Given the description of an element on the screen output the (x, y) to click on. 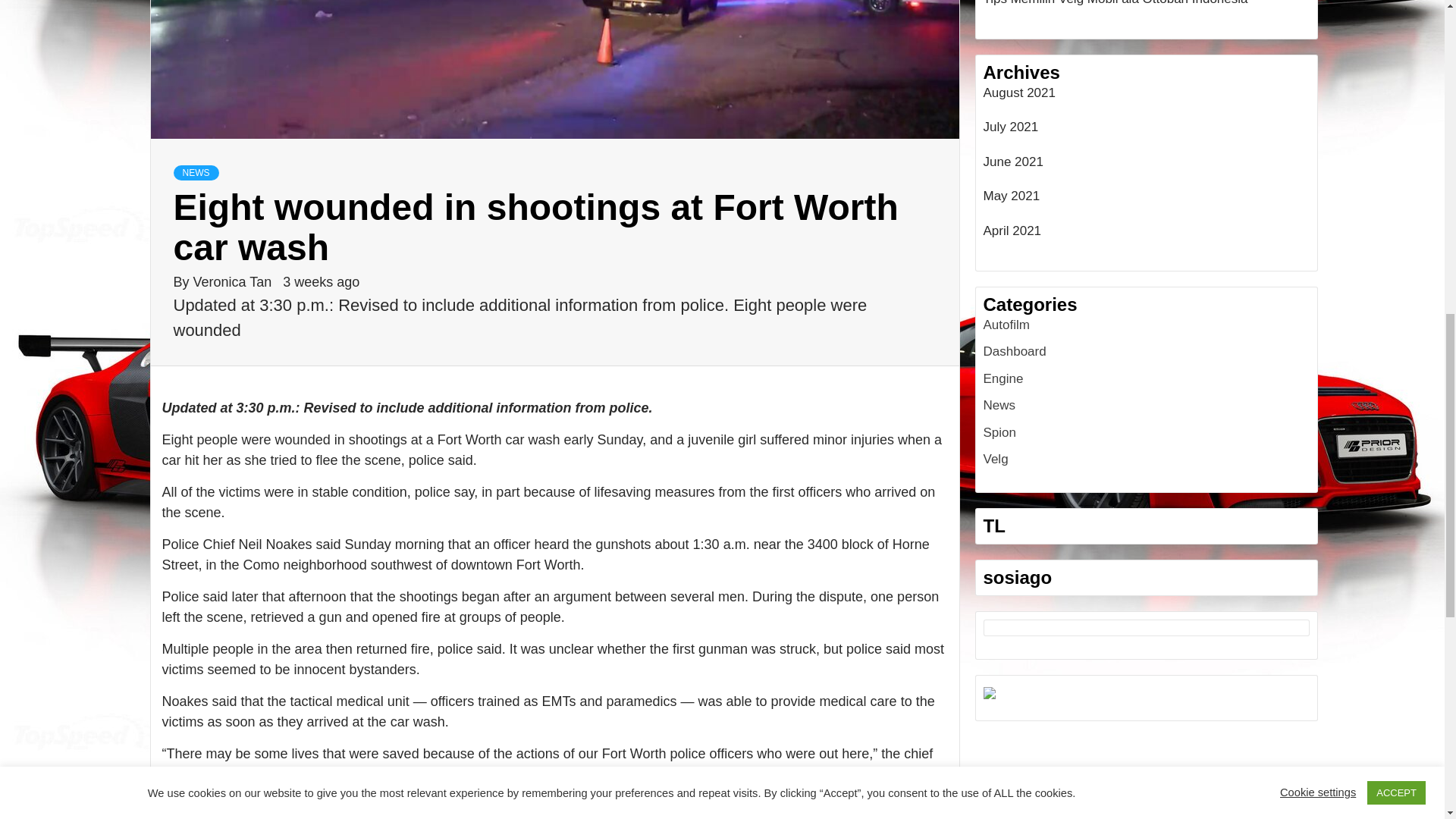
May 2021 (1145, 199)
Velg (994, 459)
April 2021 (1145, 234)
NEWS (195, 172)
Tips Memilih Velg Mobil ala Ottoban Indonesia (1145, 8)
News (998, 405)
August 2021 (1145, 96)
Autofilm (1005, 324)
Engine (1002, 378)
July 2021 (1145, 130)
